Given the description of an element on the screen output the (x, y) to click on. 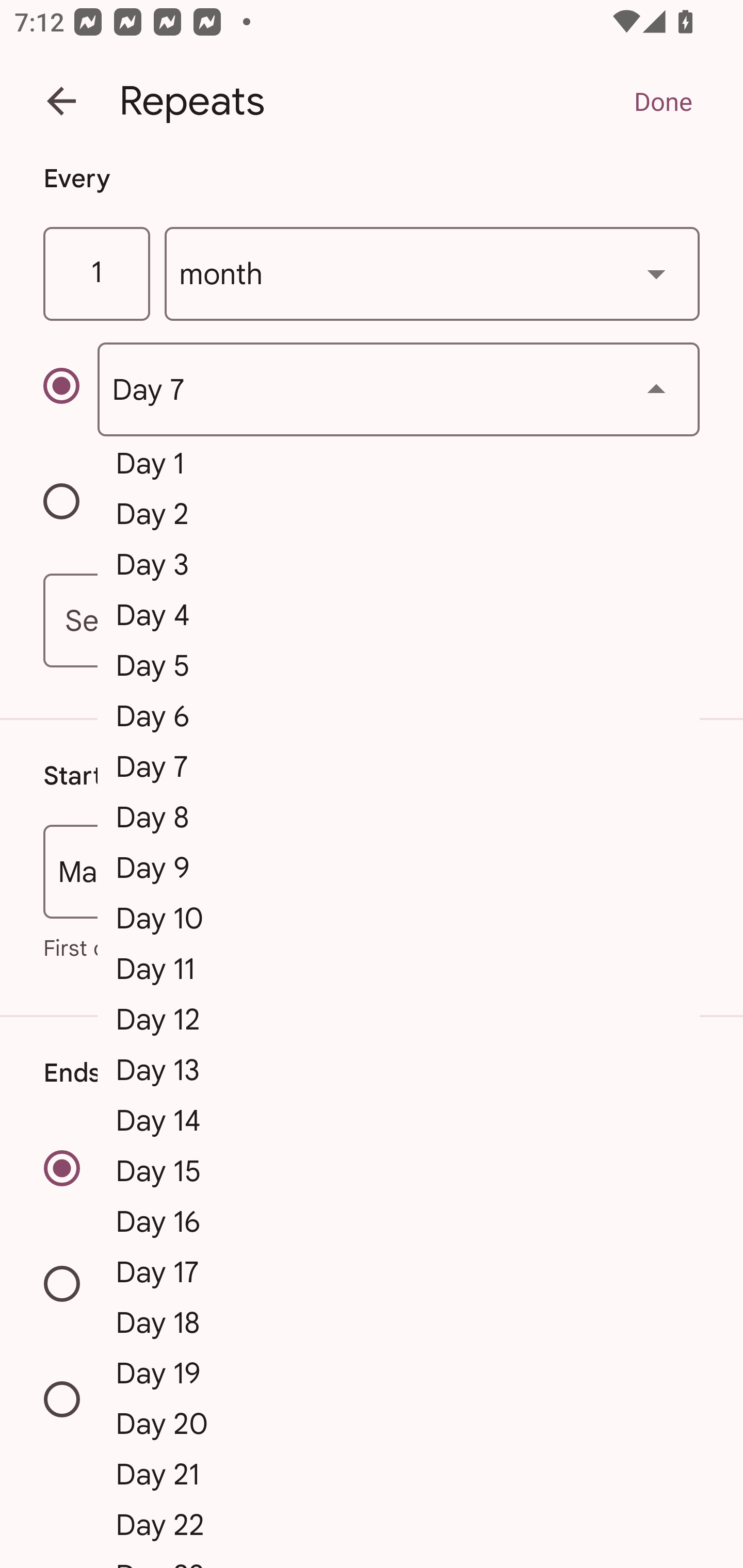
Back (61, 101)
Done (663, 101)
1 (96, 274)
month (431, 274)
Show dropdown menu (655, 273)
Day 7 (398, 388)
Show dropdown menu (655, 389)
Repeat monthly on a specific day of the month (70, 389)
